Given the description of an element on the screen output the (x, y) to click on. 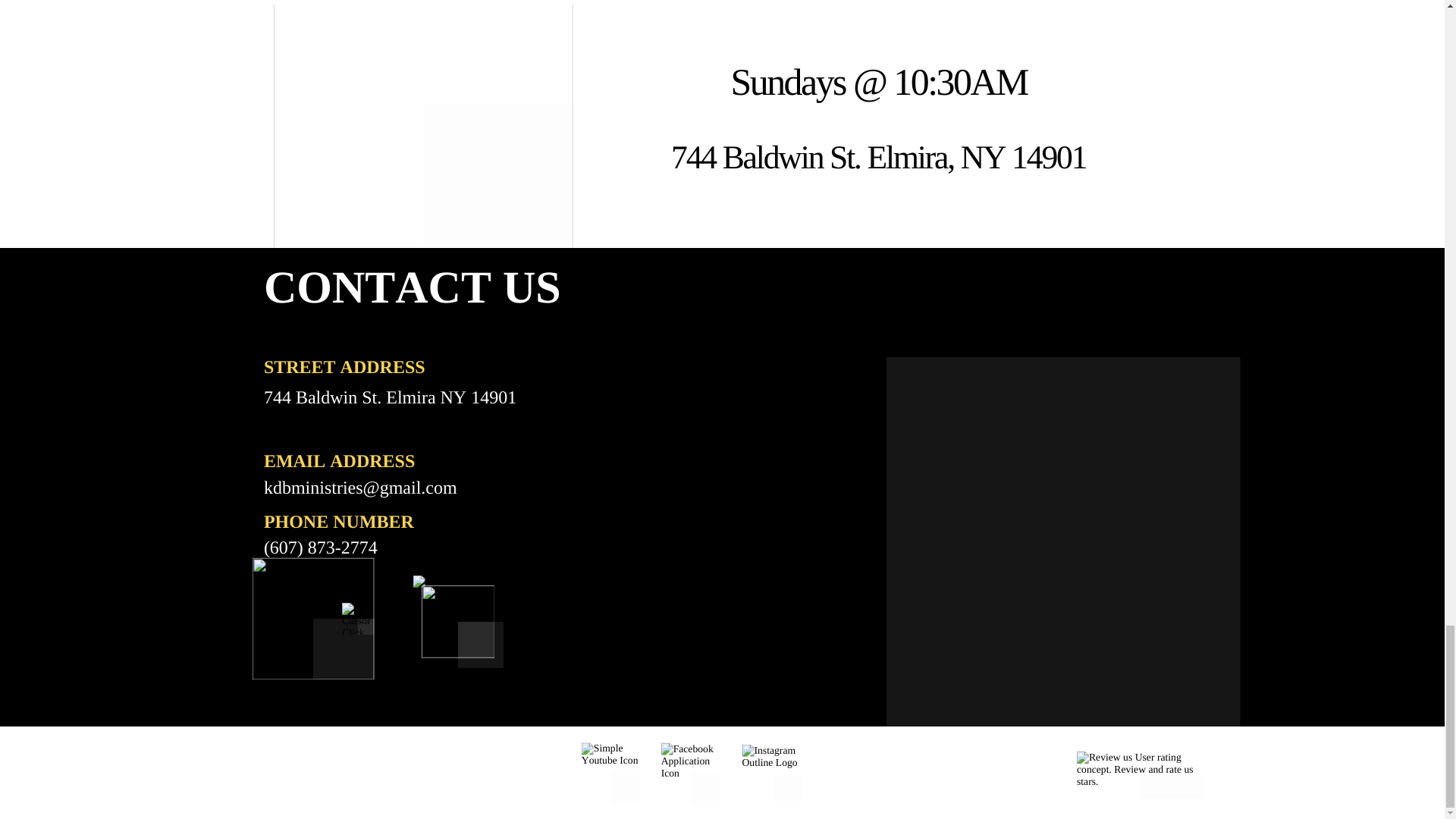
744 Baldwin St. Elmira NY 14901 (389, 397)
STREET ADDRESS (344, 367)
744 Baldwin St. Elmira, NY 14901 (878, 157)
